Given the description of an element on the screen output the (x, y) to click on. 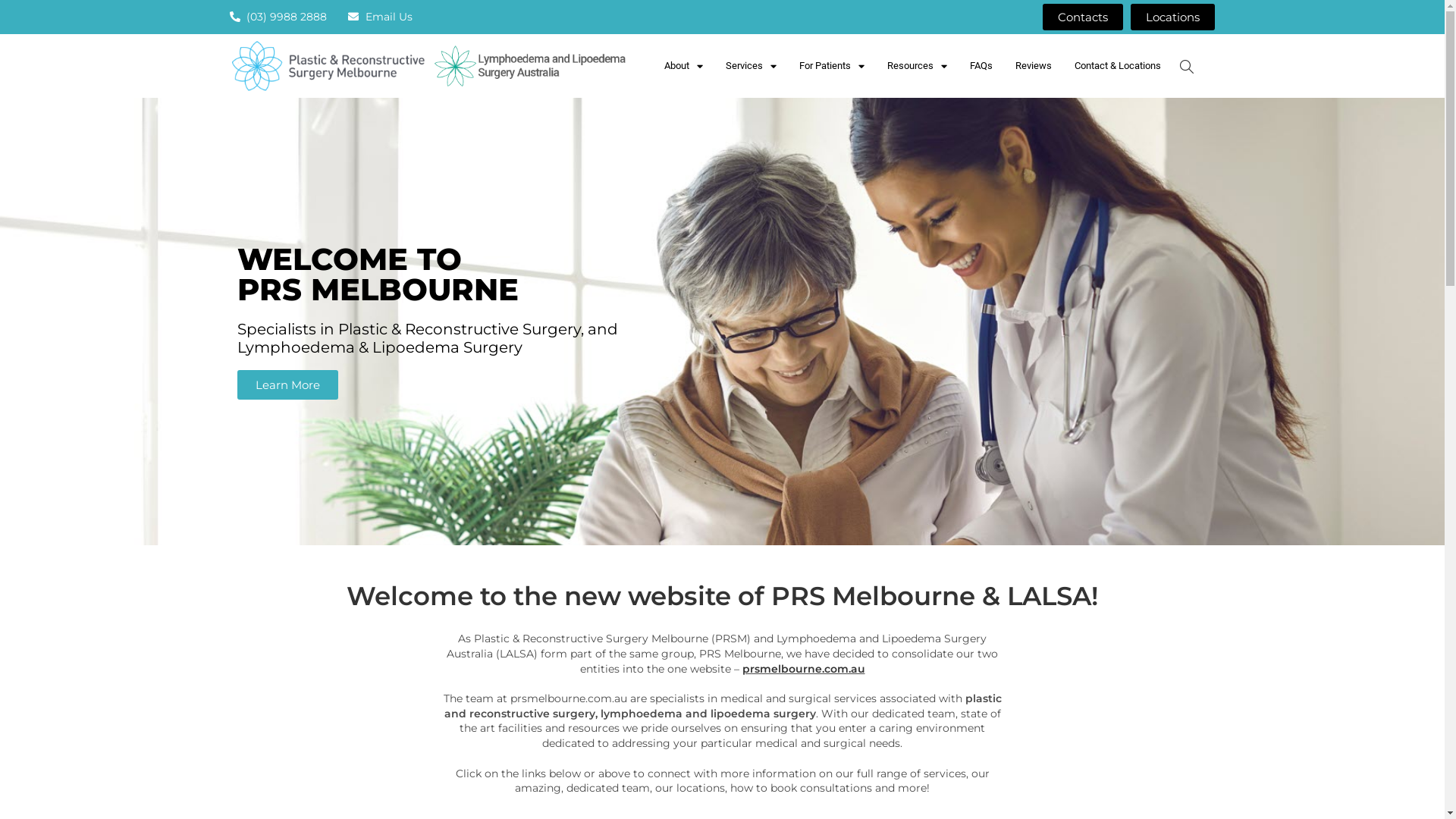
prsmelbourne.com.au Element type: text (802, 668)
Services Element type: text (750, 65)
Email Us Element type: text (380, 17)
Resources Element type: text (916, 65)
FAQs Element type: text (981, 65)
Contacts Element type: text (1082, 16)
For Patients Element type: text (831, 65)
Reviews Element type: text (1033, 65)
About Element type: text (683, 65)
Locations Element type: text (1172, 16)
Contact & Locations Element type: text (1117, 65)
Learn More Element type: text (286, 384)
(03) 9988 2888 Element type: text (277, 17)
